Given the description of an element on the screen output the (x, y) to click on. 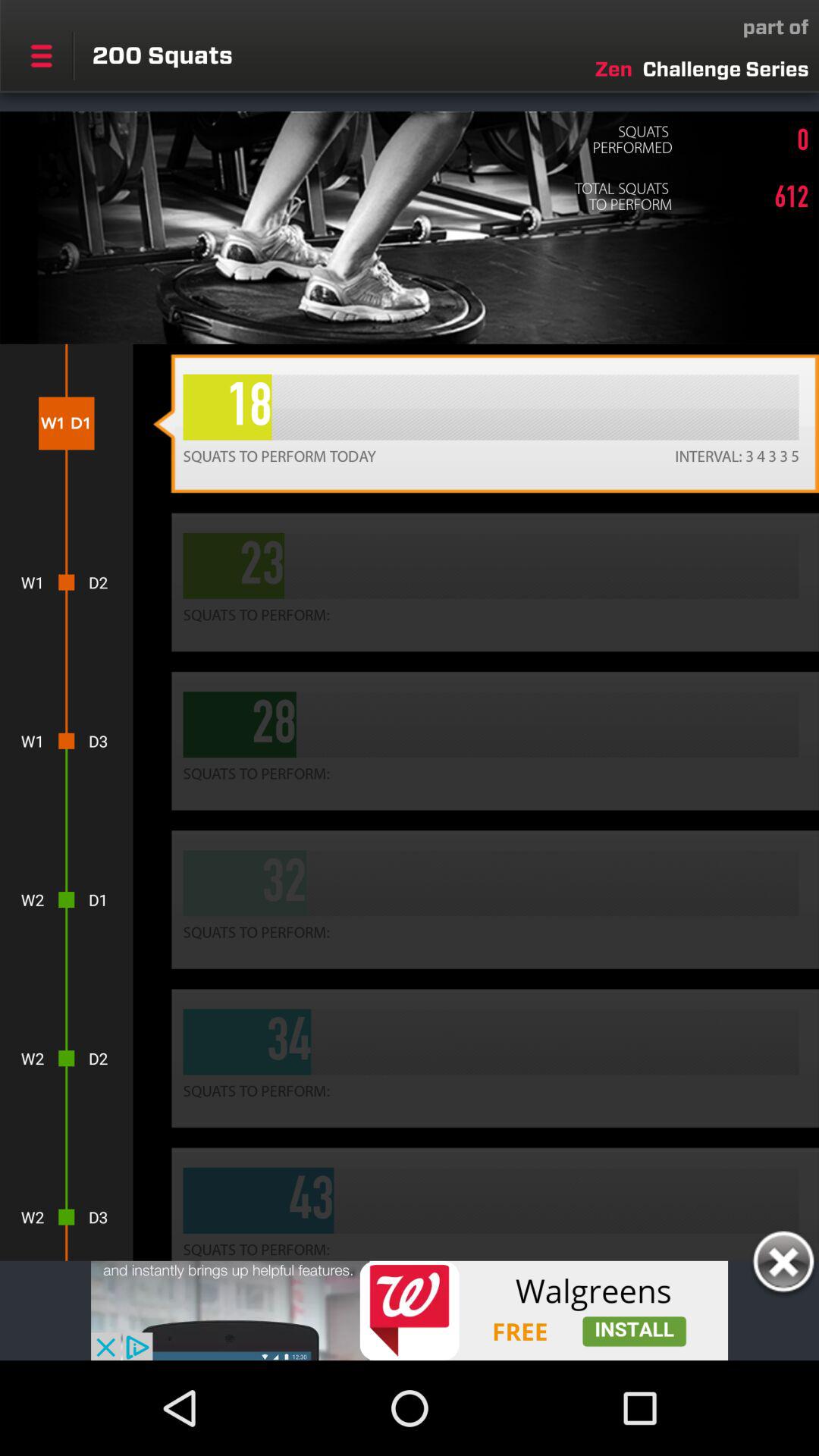
show more options (40, 55)
